Given the description of an element on the screen output the (x, y) to click on. 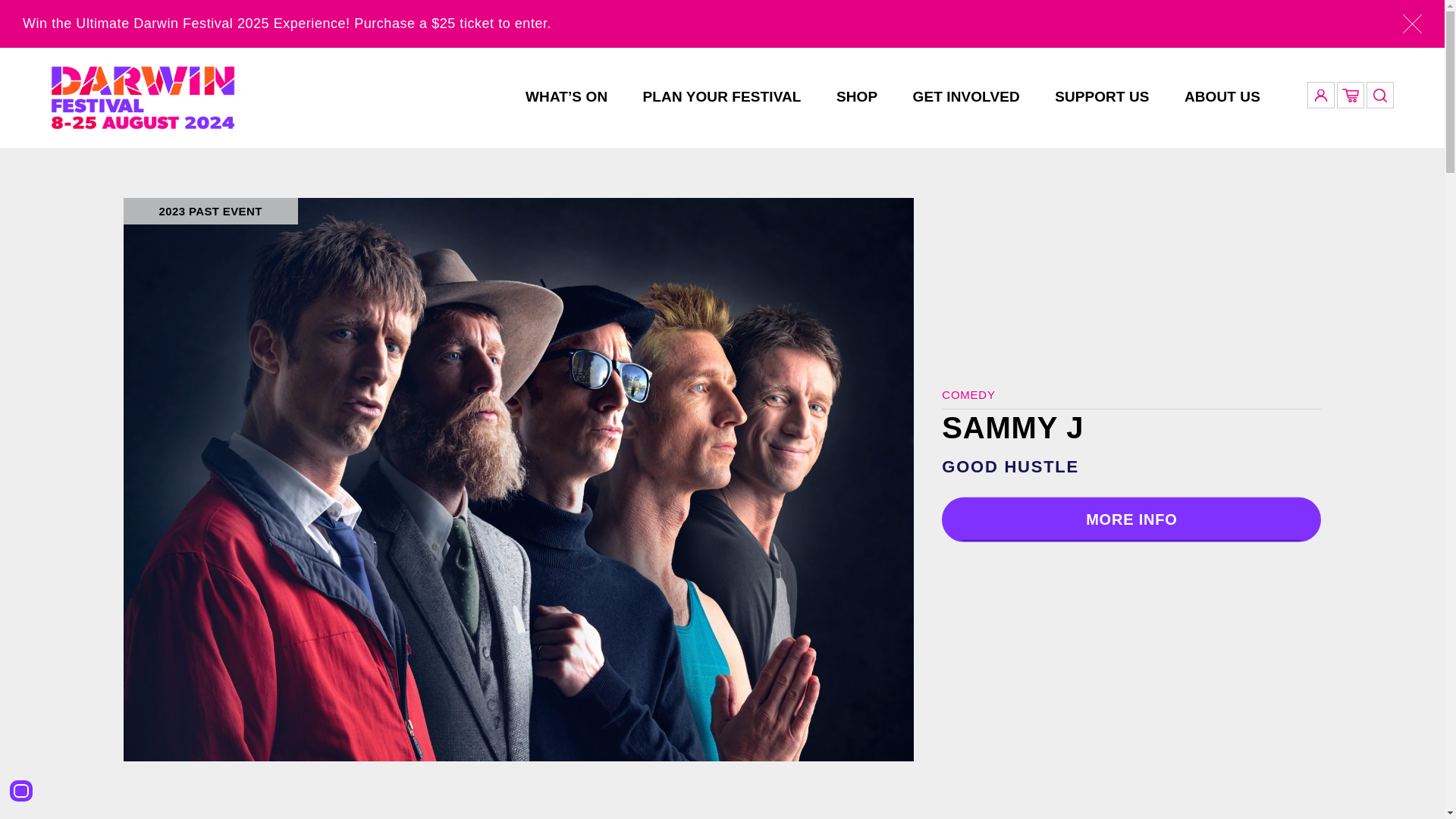
SUPPORT US (1101, 96)
MORE INFO (1131, 519)
Accessibility Menu (21, 790)
ABOUT US (1222, 96)
SHOP (856, 96)
GET INVOLVED (966, 96)
PLAN YOUR FESTIVAL (721, 96)
